Given the description of an element on the screen output the (x, y) to click on. 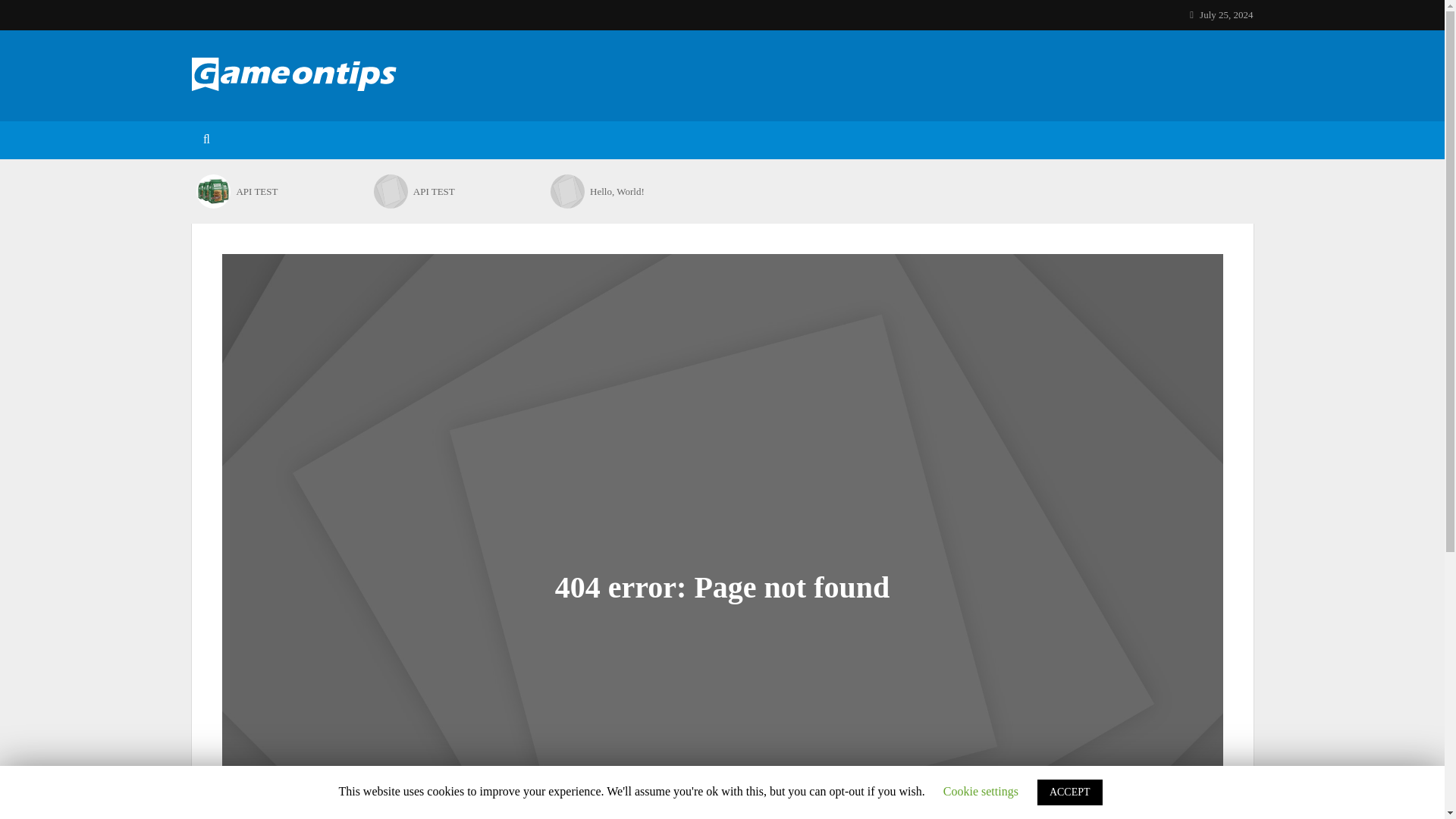
API TEST (390, 191)
API TEST (473, 192)
Cookie settings (980, 790)
API TEST (212, 191)
ACCEPT (1069, 792)
API TEST (295, 192)
Hello, World! (649, 192)
Hello, World! (566, 191)
